Given the description of an element on the screen output the (x, y) to click on. 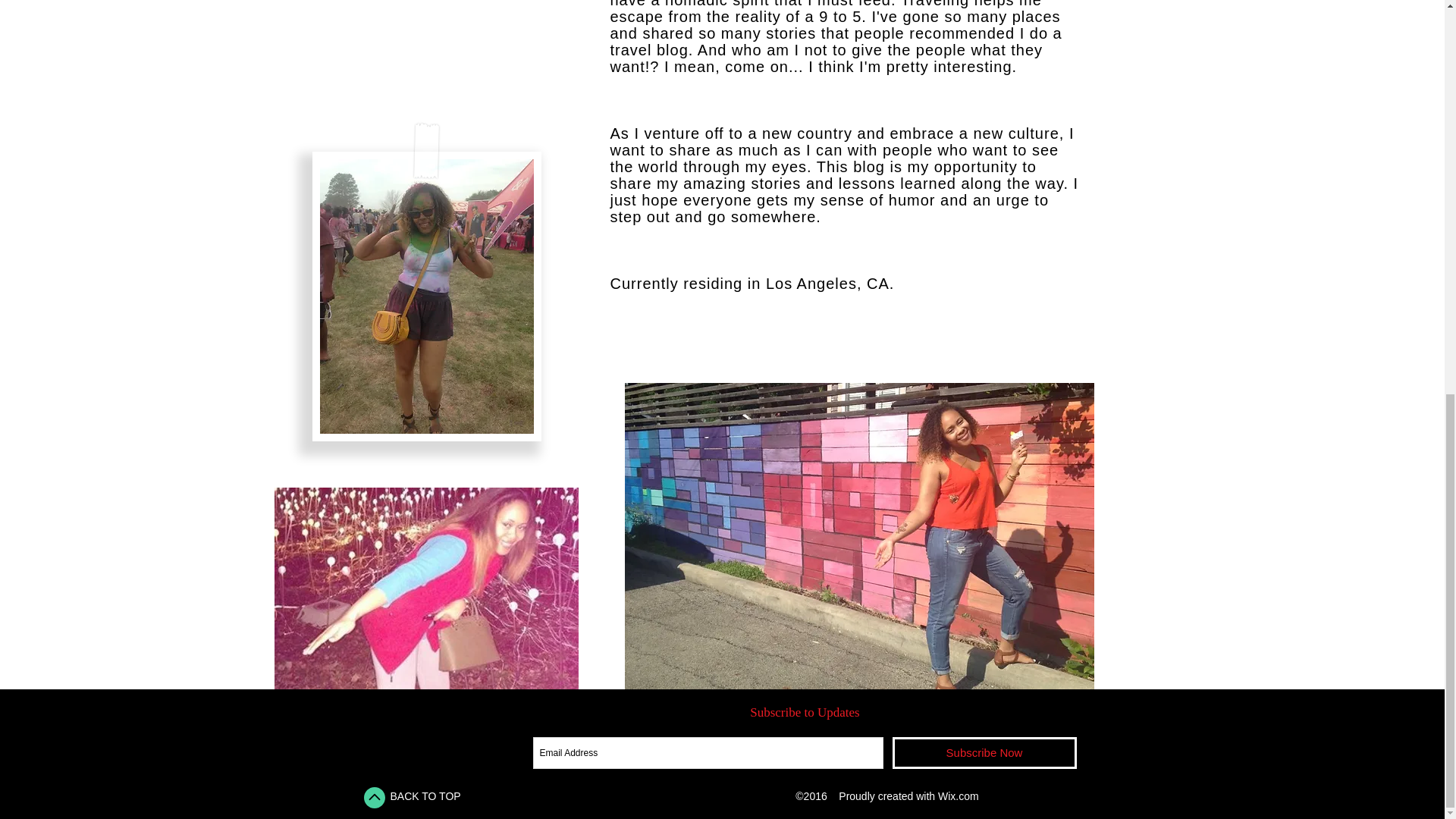
Subscribe Now (983, 753)
BACK TO TOP (425, 796)
Wix.com (957, 796)
